Given the description of an element on the screen output the (x, y) to click on. 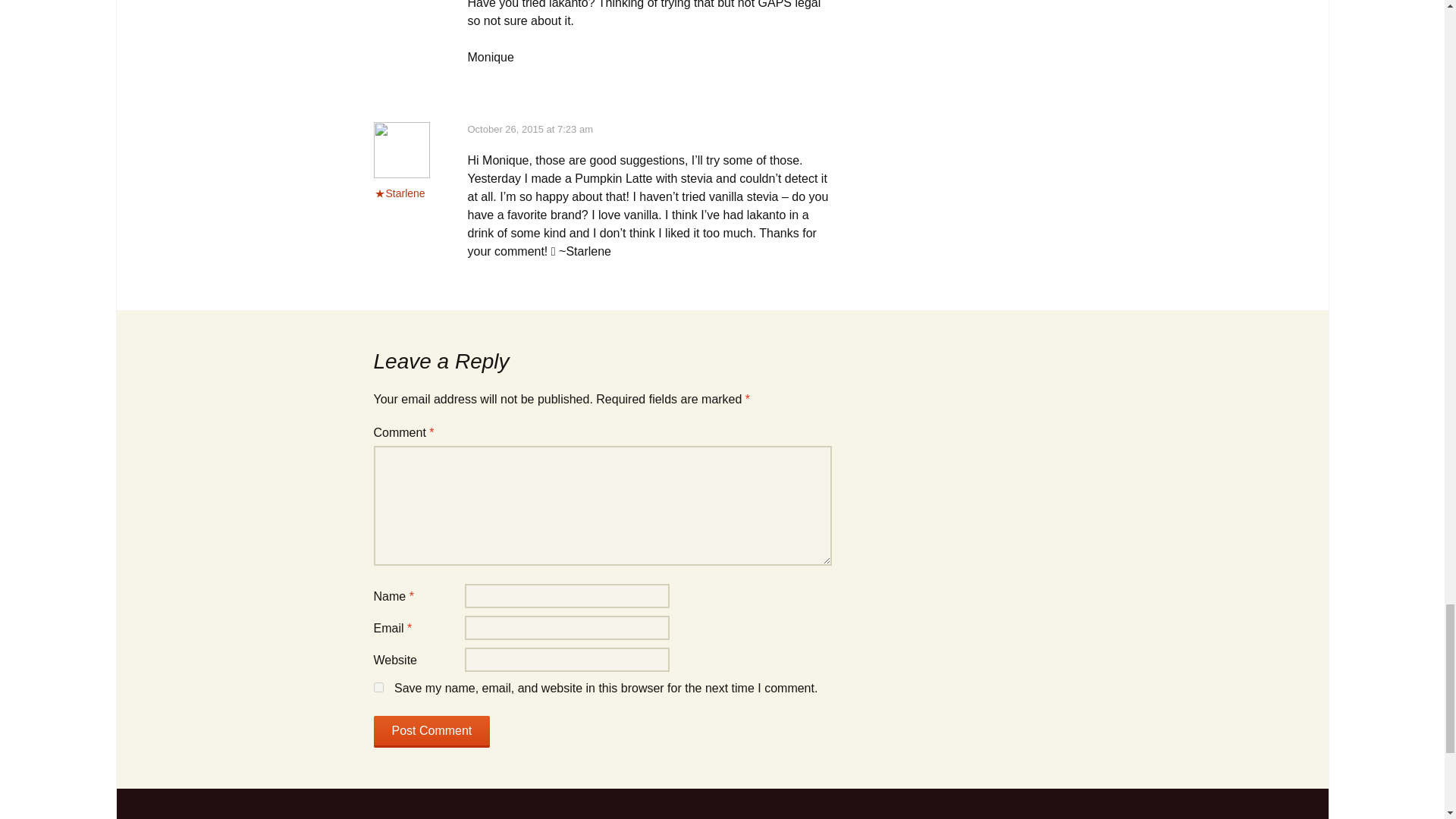
Post Comment (430, 731)
yes (377, 687)
October 26, 2015 at 7:23 am (529, 129)
Post Comment (430, 731)
